Given the description of an element on the screen output the (x, y) to click on. 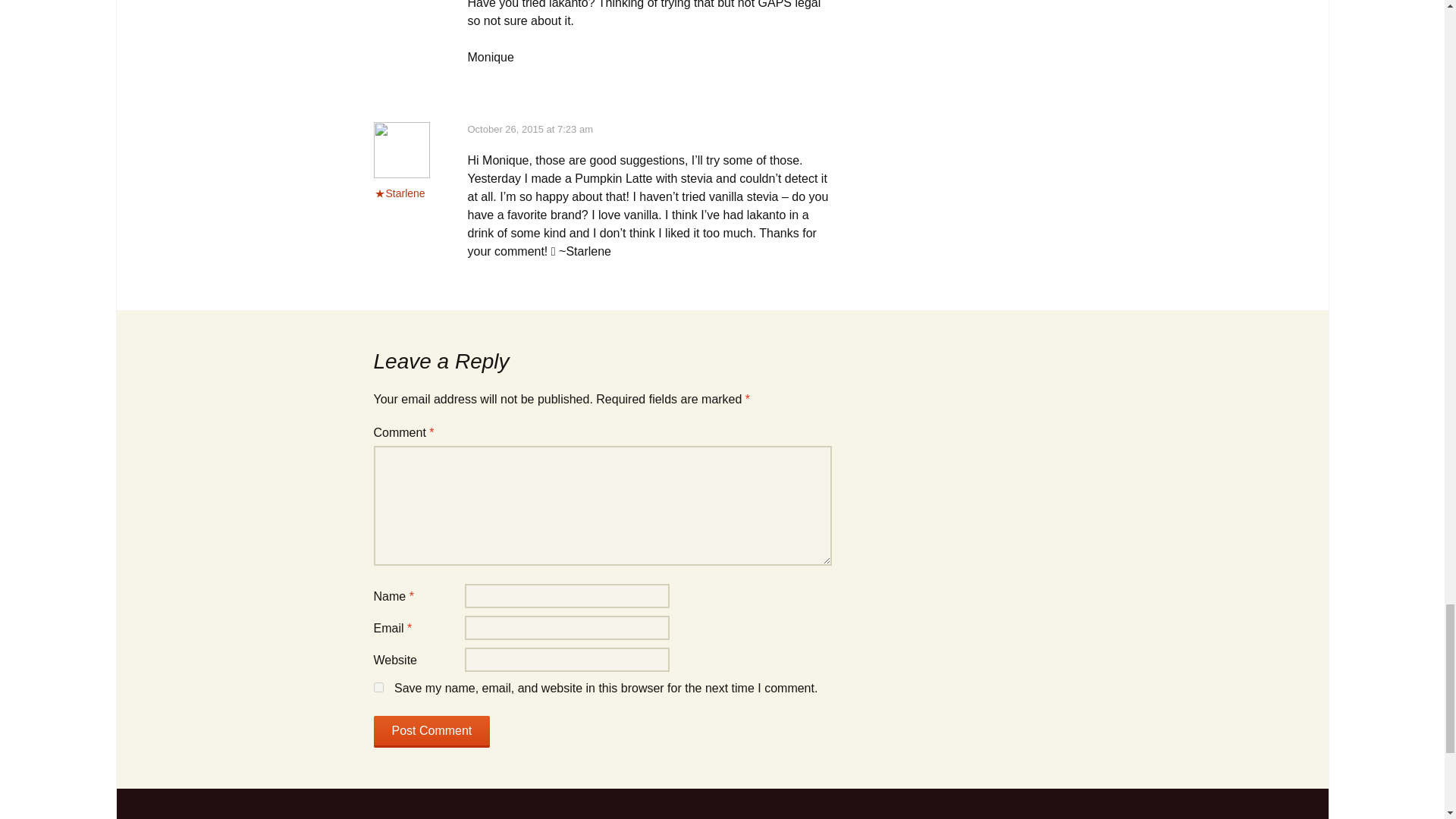
Post Comment (430, 731)
yes (377, 687)
October 26, 2015 at 7:23 am (529, 129)
Post Comment (430, 731)
